Given the description of an element on the screen output the (x, y) to click on. 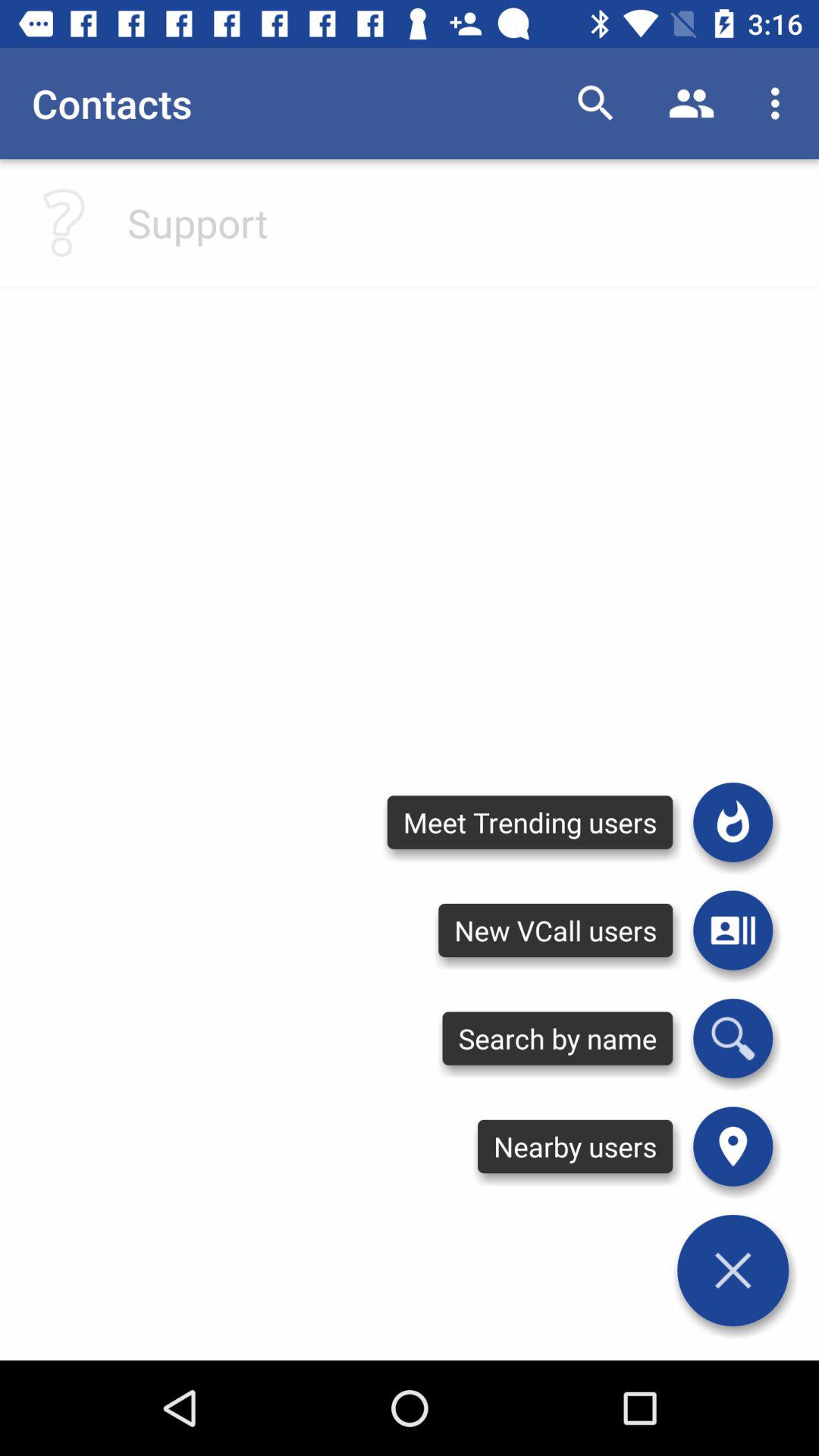
launch the search by name (557, 1038)
